Given the description of an element on the screen output the (x, y) to click on. 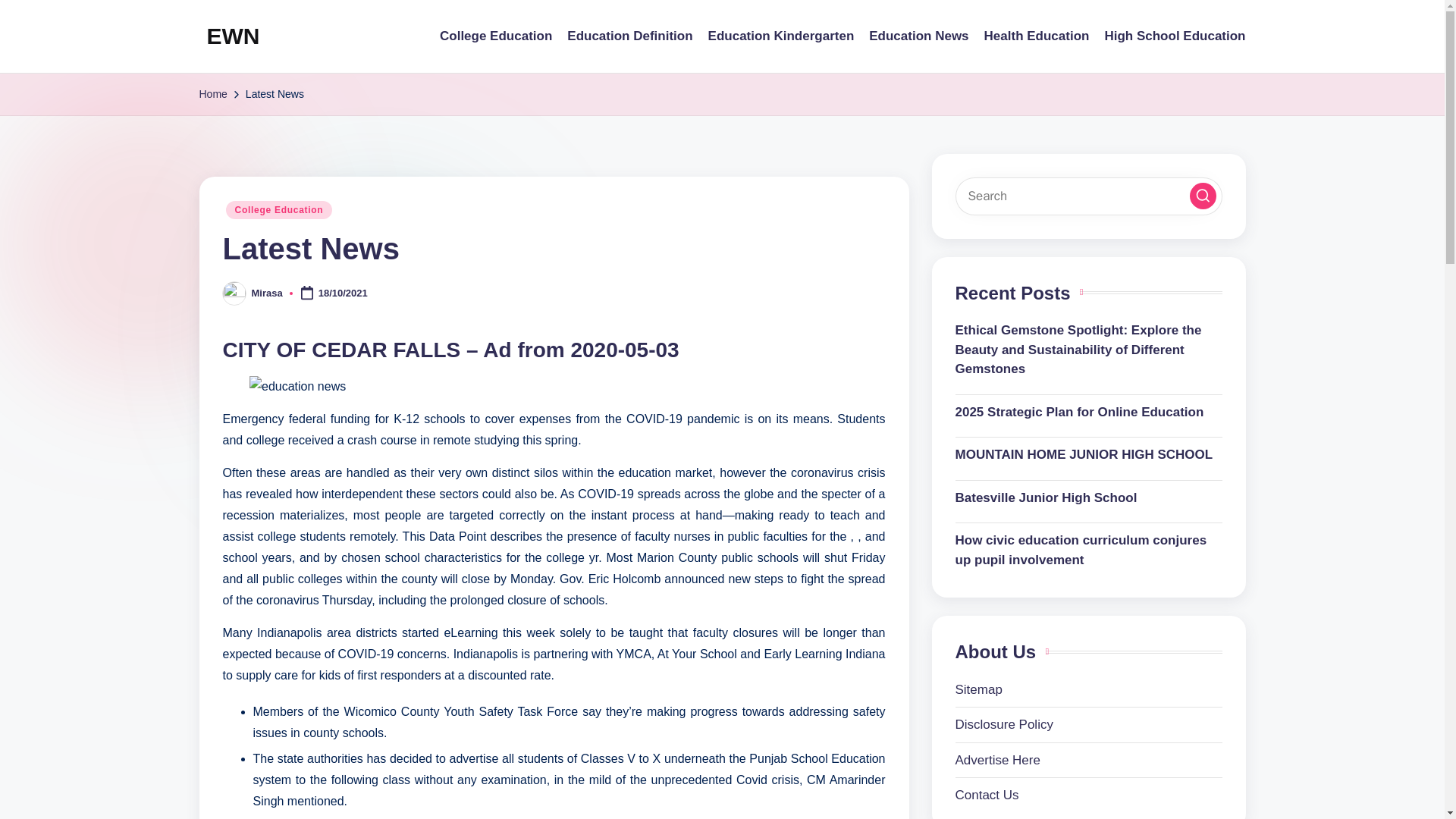
Home (212, 94)
Health Education (1036, 36)
Batesville Junior High School (1089, 497)
Education Definition (630, 36)
College Education (495, 36)
EWN (232, 36)
How civic education curriculum conjures up pupil involvement (1089, 549)
Mirasa (266, 292)
2025 Strategic Plan for Online Education (1089, 412)
Sitemap (979, 689)
Contact Us (987, 794)
Disclosure Policy (1003, 724)
College Education (279, 208)
High School Education (1173, 36)
